Given the description of an element on the screen output the (x, y) to click on. 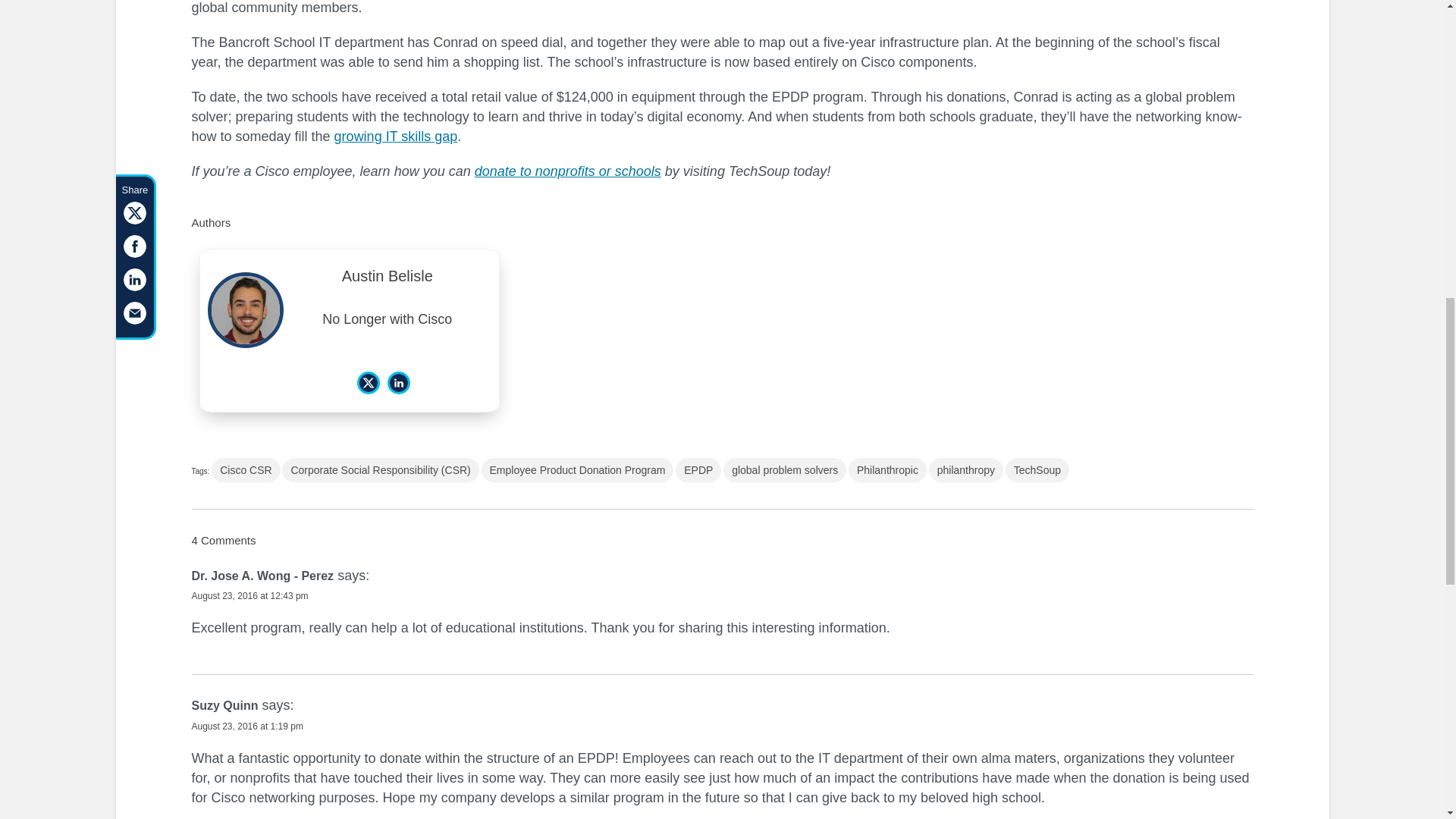
donate to nonprofits or schools (567, 171)
Philanthropic (887, 469)
August 23, 2016 at 12:43 pm (248, 595)
global problem solvers (784, 469)
TechSoup (1037, 469)
Employee Product Donation Program (577, 469)
EPDP (697, 469)
August 23, 2016 at 1:19 pm (246, 726)
growing IT skills gap (396, 136)
Cisco CSR (245, 469)
philanthropy (965, 469)
Austin Belisle (387, 279)
